Given the description of an element on the screen output the (x, y) to click on. 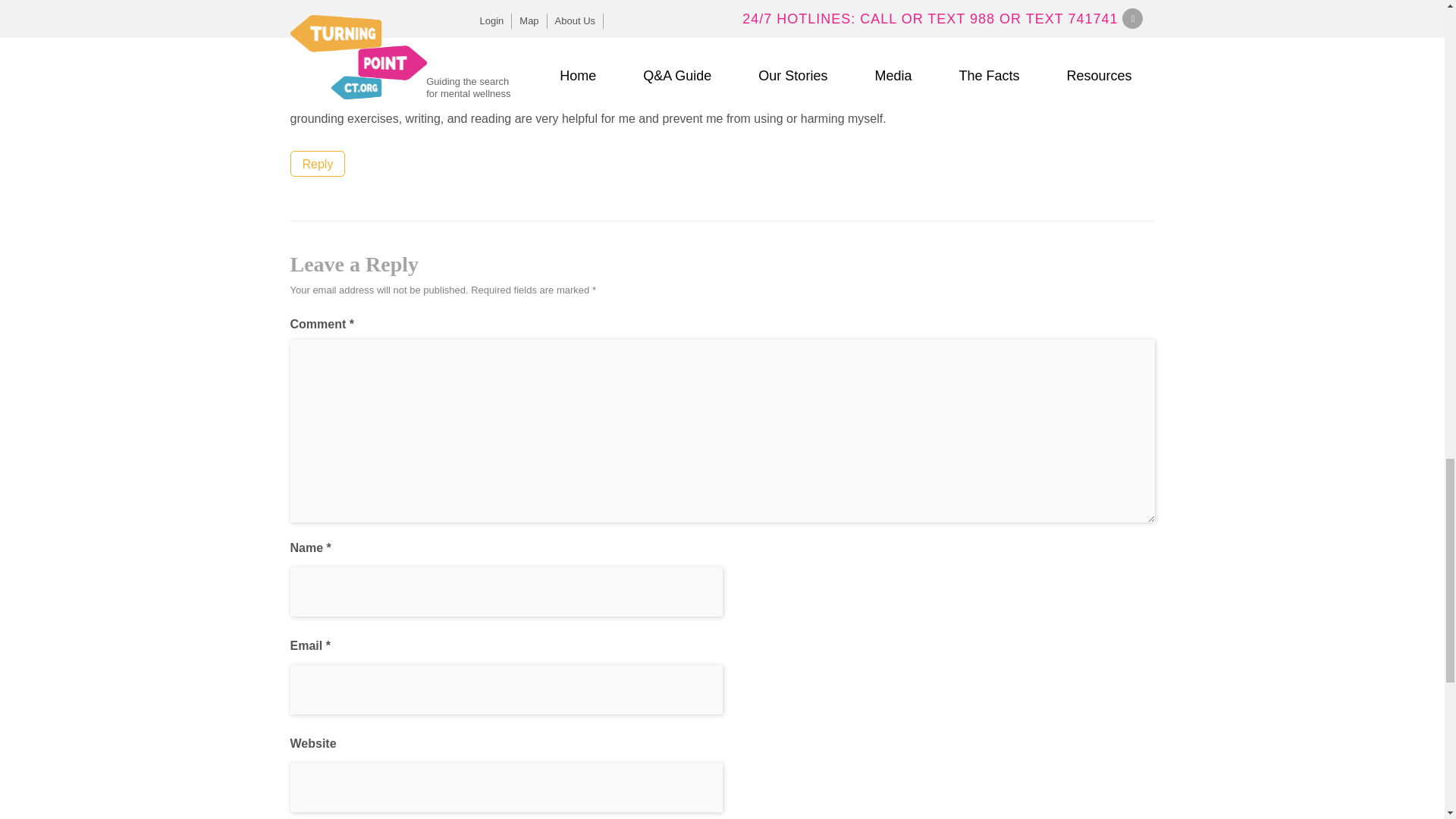
Reply (317, 163)
